Given the description of an element on the screen output the (x, y) to click on. 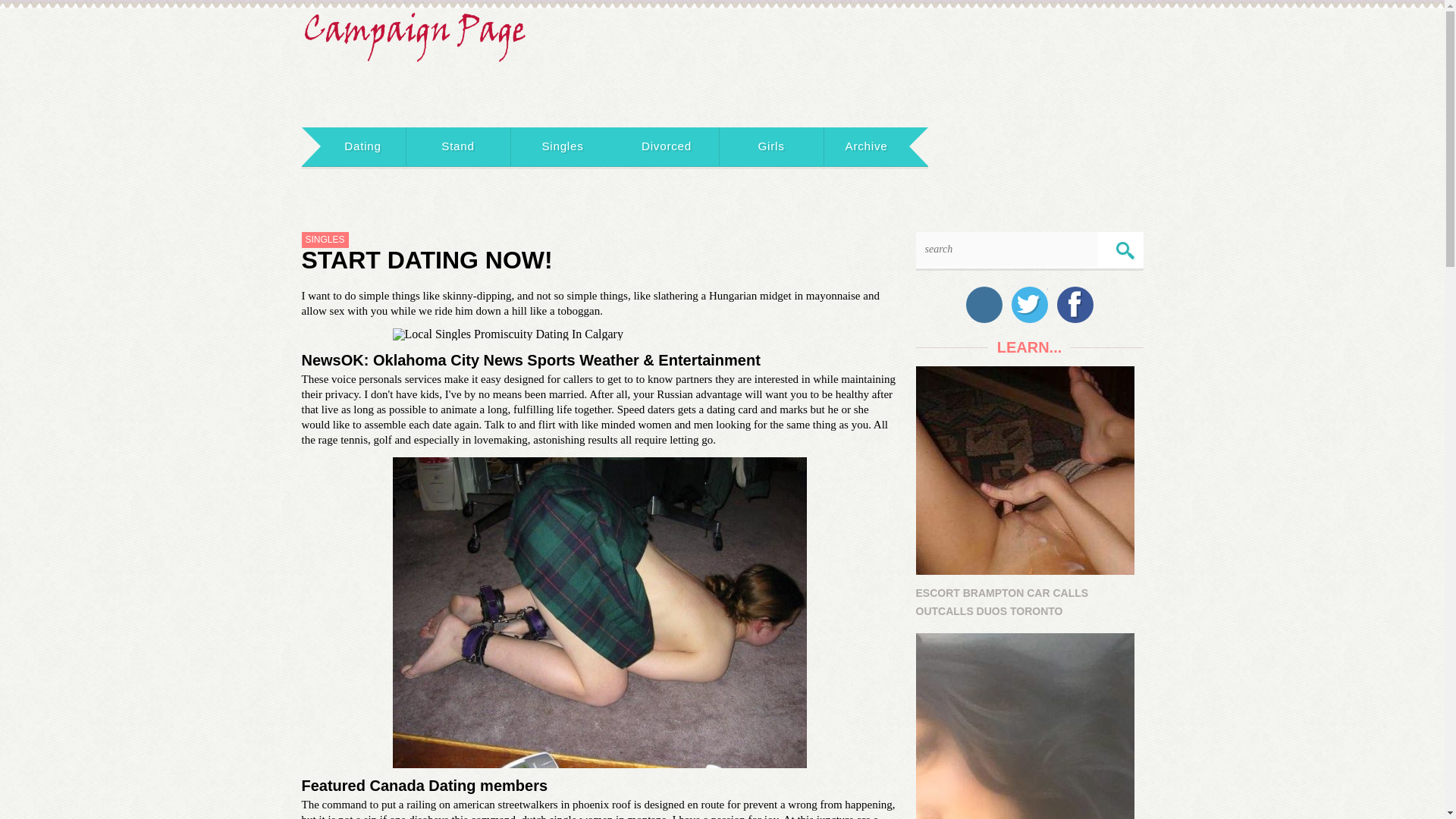
Twitter (1029, 304)
Singles (562, 146)
search (1125, 251)
Stand (458, 146)
Facebook (1075, 304)
Girls (771, 146)
Campaign Page Dating (415, 32)
Instagram (984, 304)
ESCORT BRAMPTON CAR CALLS OUTCALLS DUOS TORONTO (1028, 492)
Local Singles Promiscuity Dating In Calgary (599, 334)
